Given the description of an element on the screen output the (x, y) to click on. 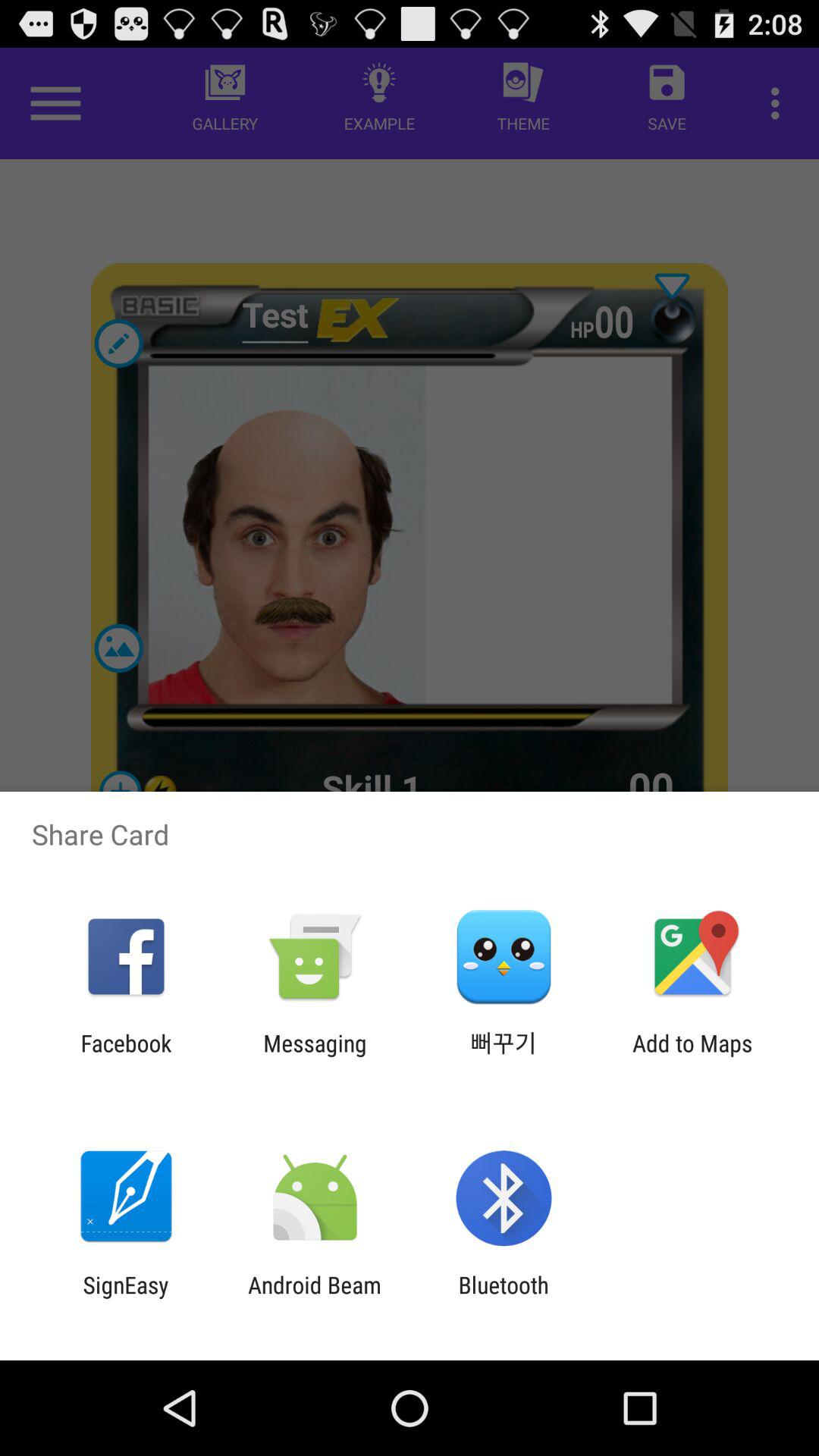
select the item to the right of the signeasy app (314, 1298)
